Given the description of an element on the screen output the (x, y) to click on. 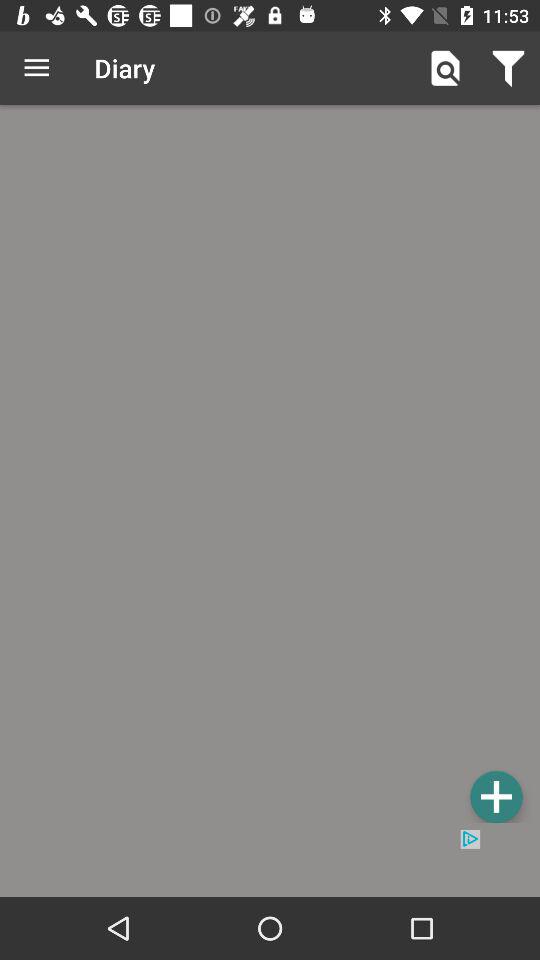
add diary entry (269, 467)
